Given the description of an element on the screen output the (x, y) to click on. 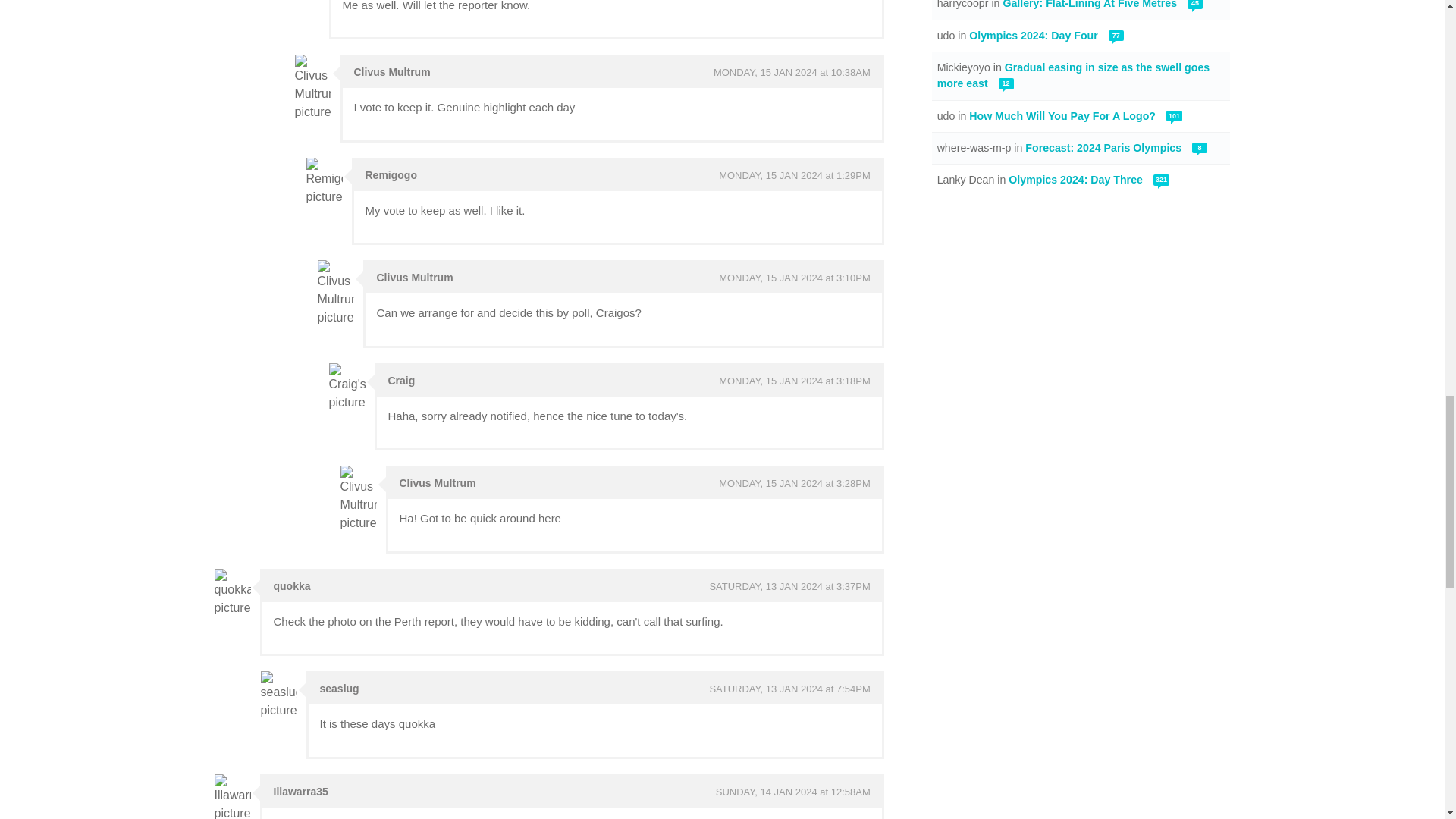
Remigogo's picture (323, 182)
Clivus Multrum's picture (357, 499)
Craig's picture (347, 387)
Clivus Multrum's picture (335, 293)
Clivus Multrum's picture (312, 87)
